Given the description of an element on the screen output the (x, y) to click on. 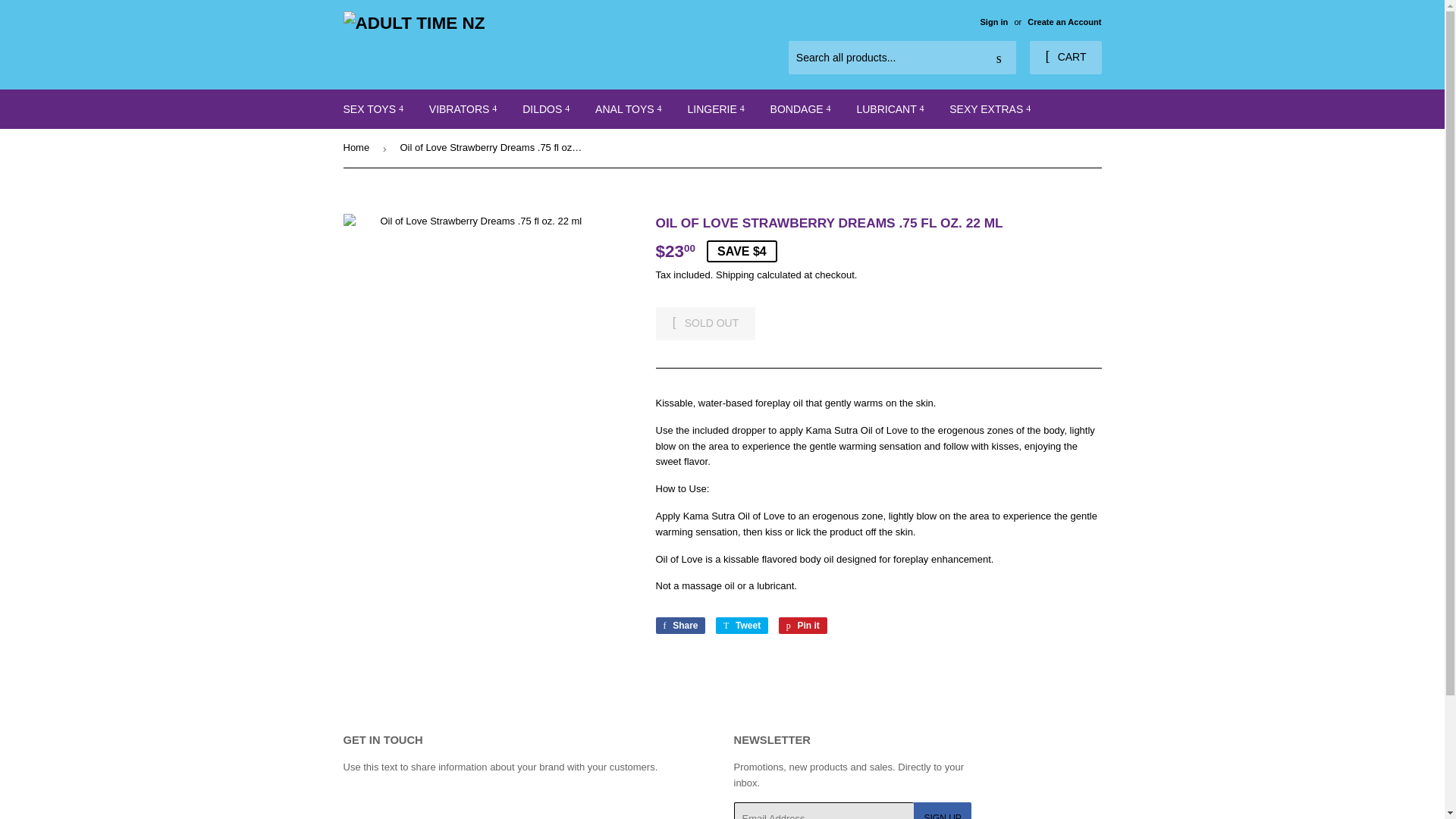
CART (1064, 57)
Search (998, 58)
Pin on Pinterest (802, 625)
Share on Facebook (679, 625)
Sign in (993, 21)
Create an Account (1063, 21)
Tweet on Twitter (742, 625)
